Given the description of an element on the screen output the (x, y) to click on. 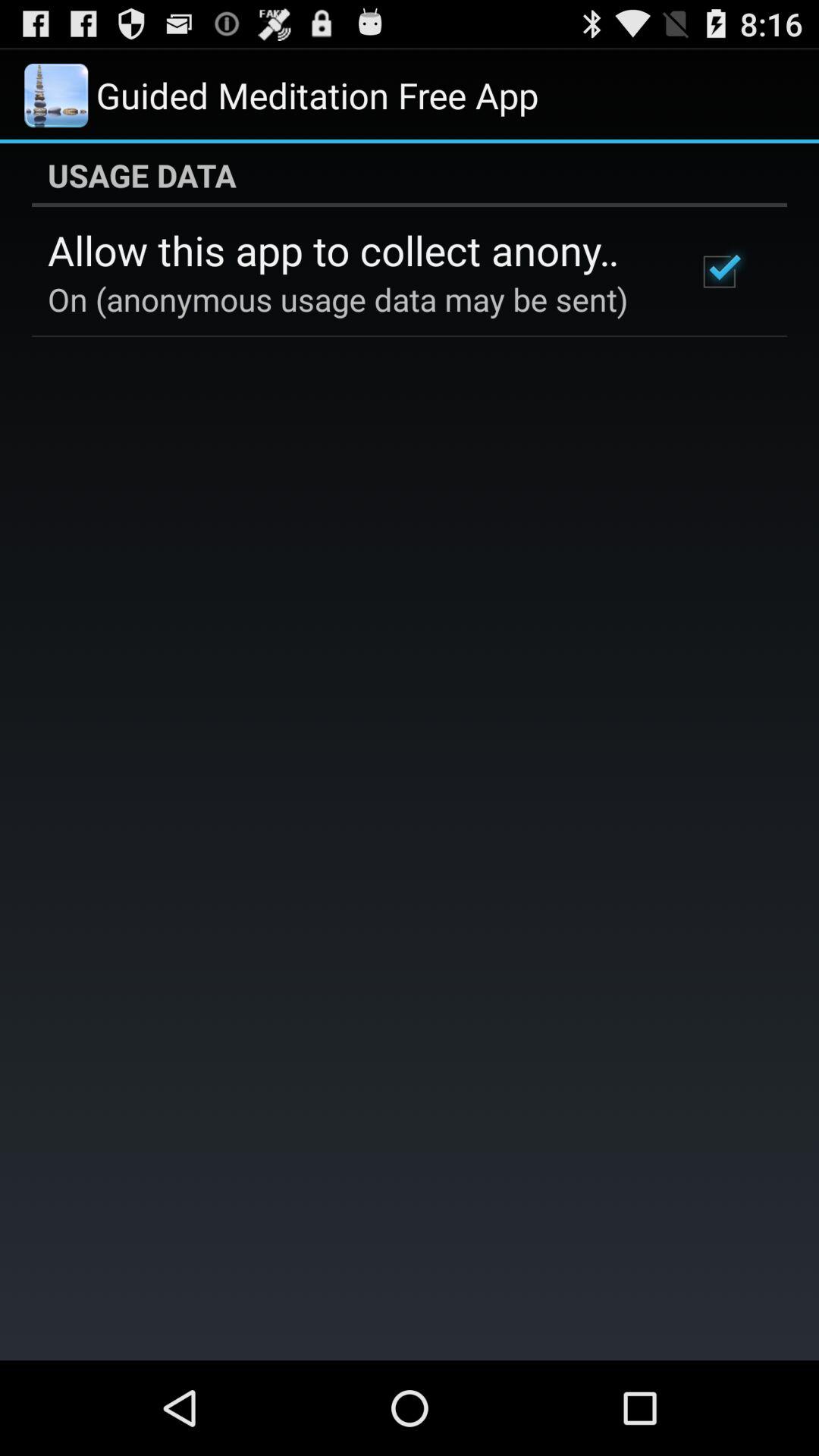
launch allow this app icon (351, 249)
